Given the description of an element on the screen output the (x, y) to click on. 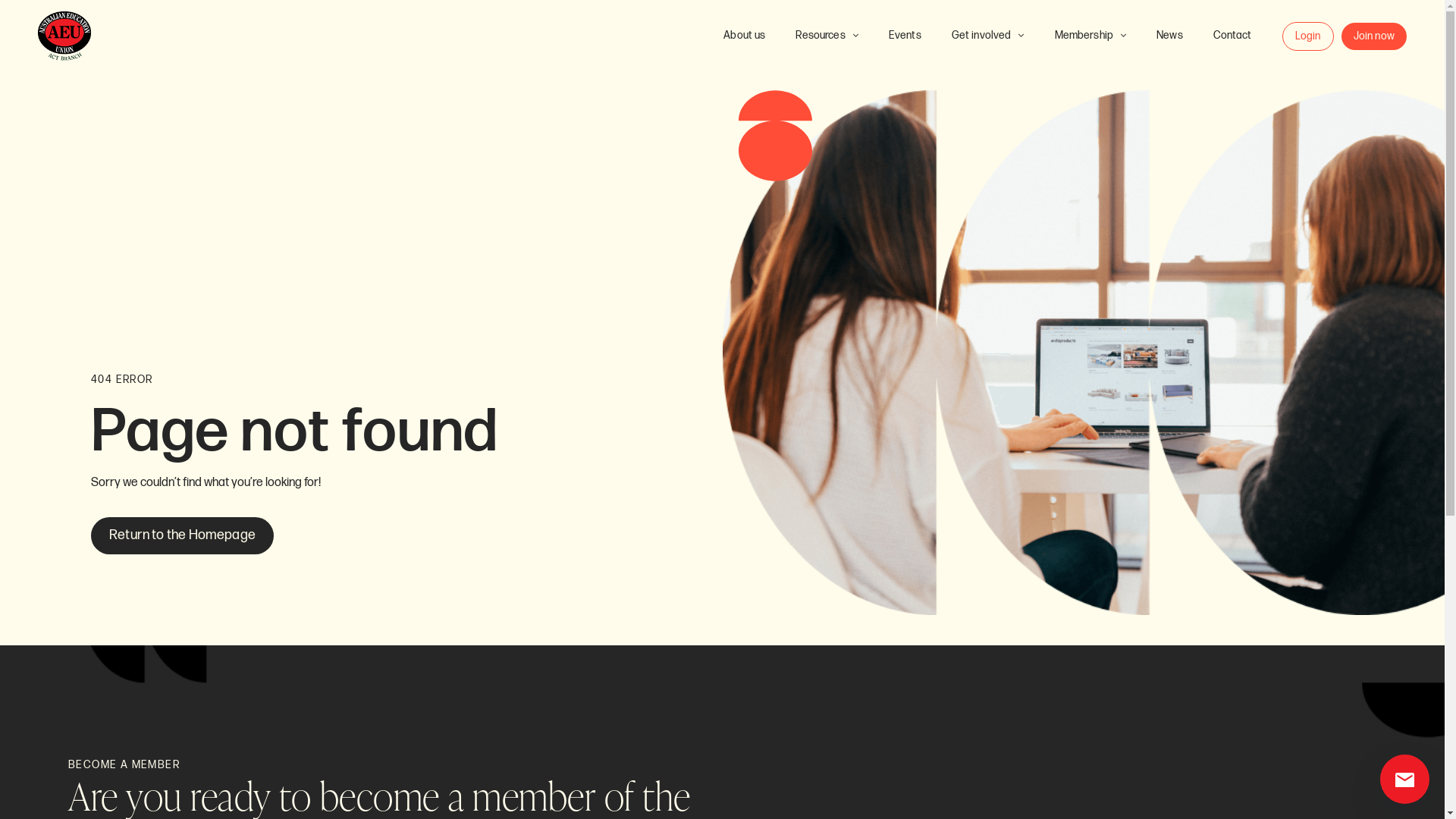
Contact Element type: text (1232, 35)
Return to the Homepage Element type: text (182, 535)
Join now Element type: text (1373, 36)
Get involved Element type: text (987, 35)
Membership Element type: text (1090, 35)
About us Element type: text (744, 35)
Resources Element type: text (826, 35)
Events Element type: text (904, 35)
News Element type: text (1169, 35)
Login Element type: text (1307, 35)
